Given the description of an element on the screen output the (x, y) to click on. 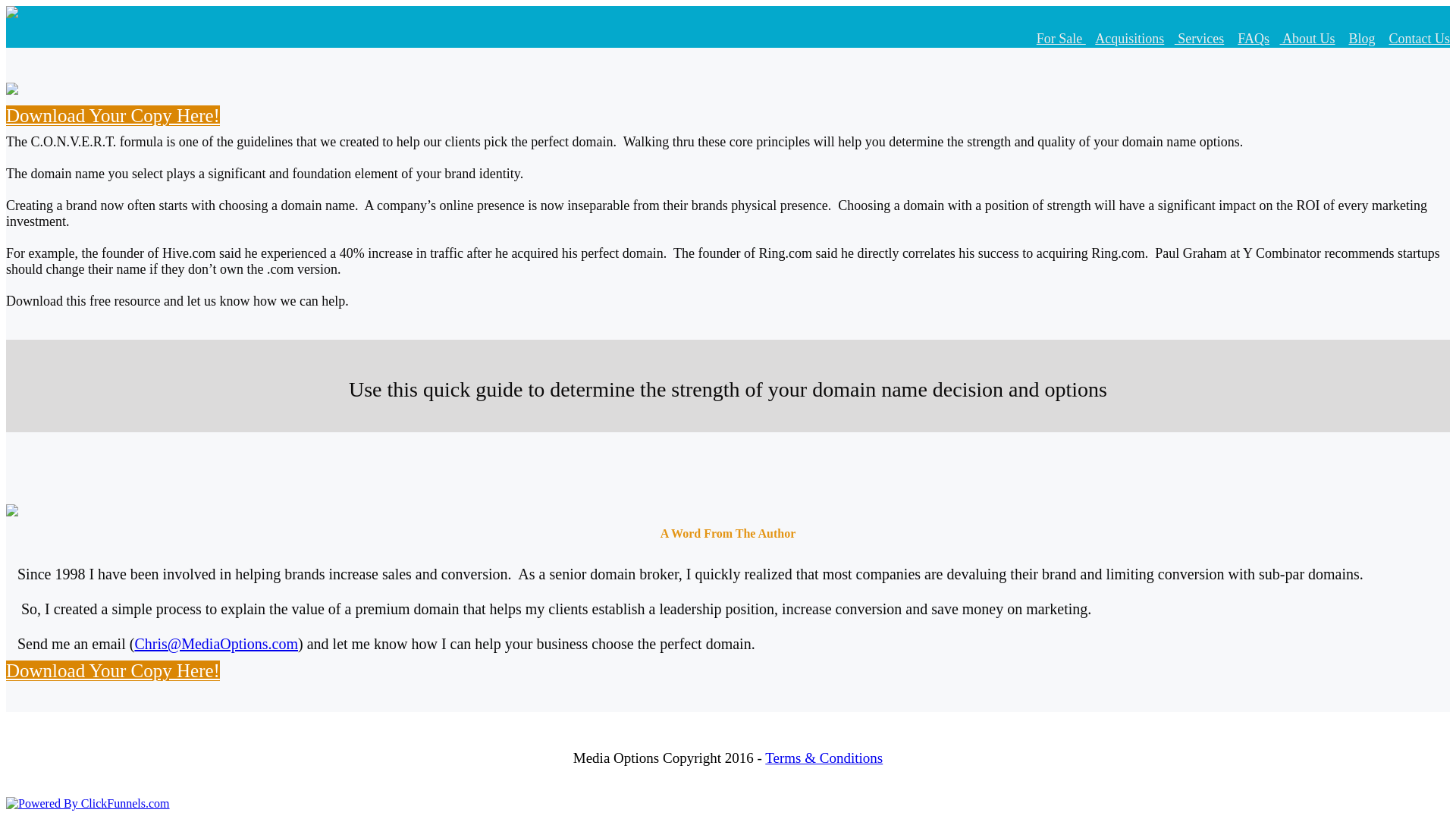
For Sale (1061, 38)
Download Your Copy Here! (112, 670)
About Us (1307, 38)
Download Your Copy Here! (112, 115)
Acquisitions (1128, 38)
Services (1199, 38)
FAQs (1253, 38)
Blog (1361, 38)
